Given the description of an element on the screen output the (x, y) to click on. 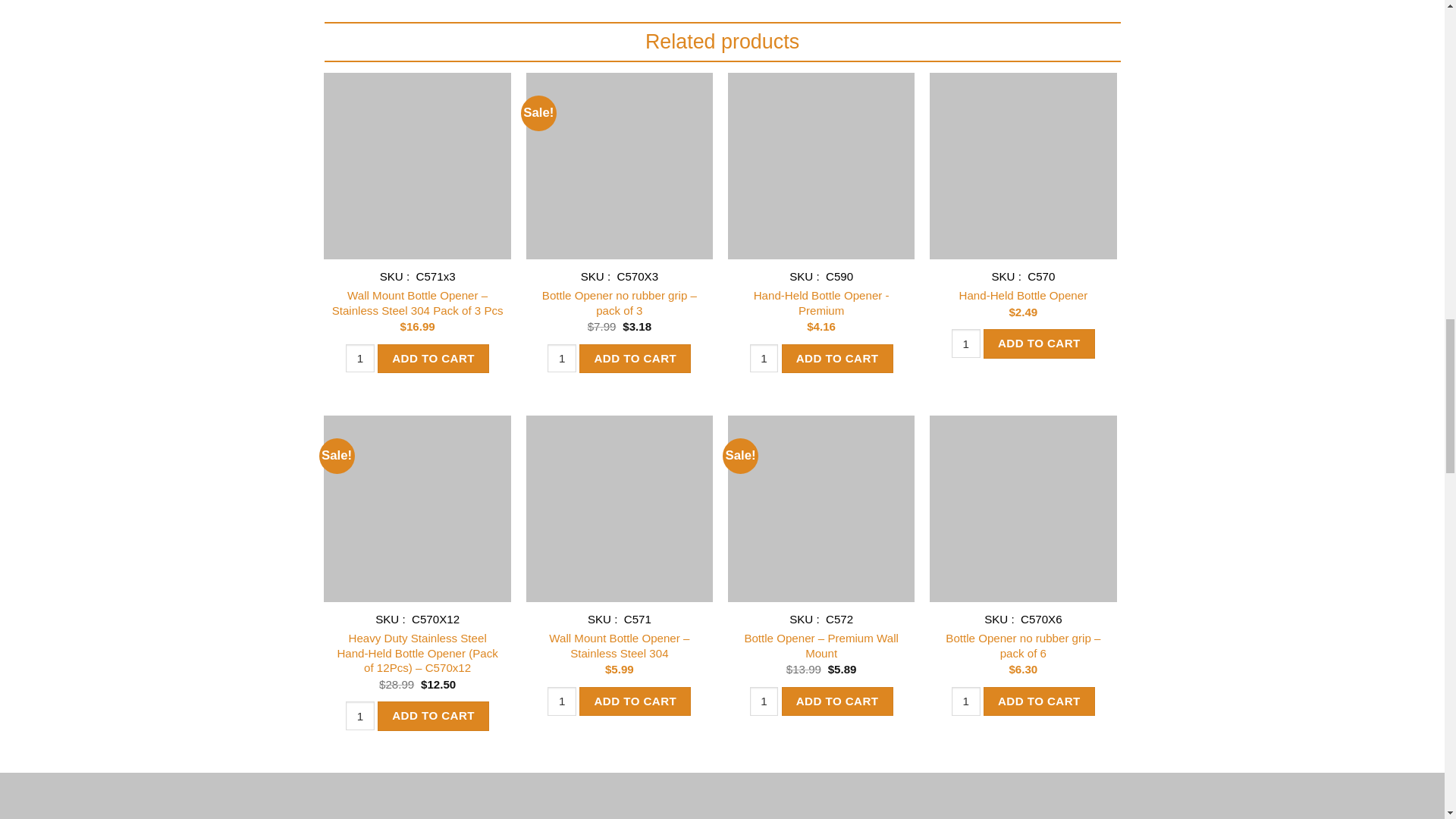
1 (561, 358)
1 (360, 358)
1 (763, 358)
1 (965, 701)
1 (965, 343)
1 (561, 701)
1 (763, 701)
1 (360, 715)
